Given the description of an element on the screen output the (x, y) to click on. 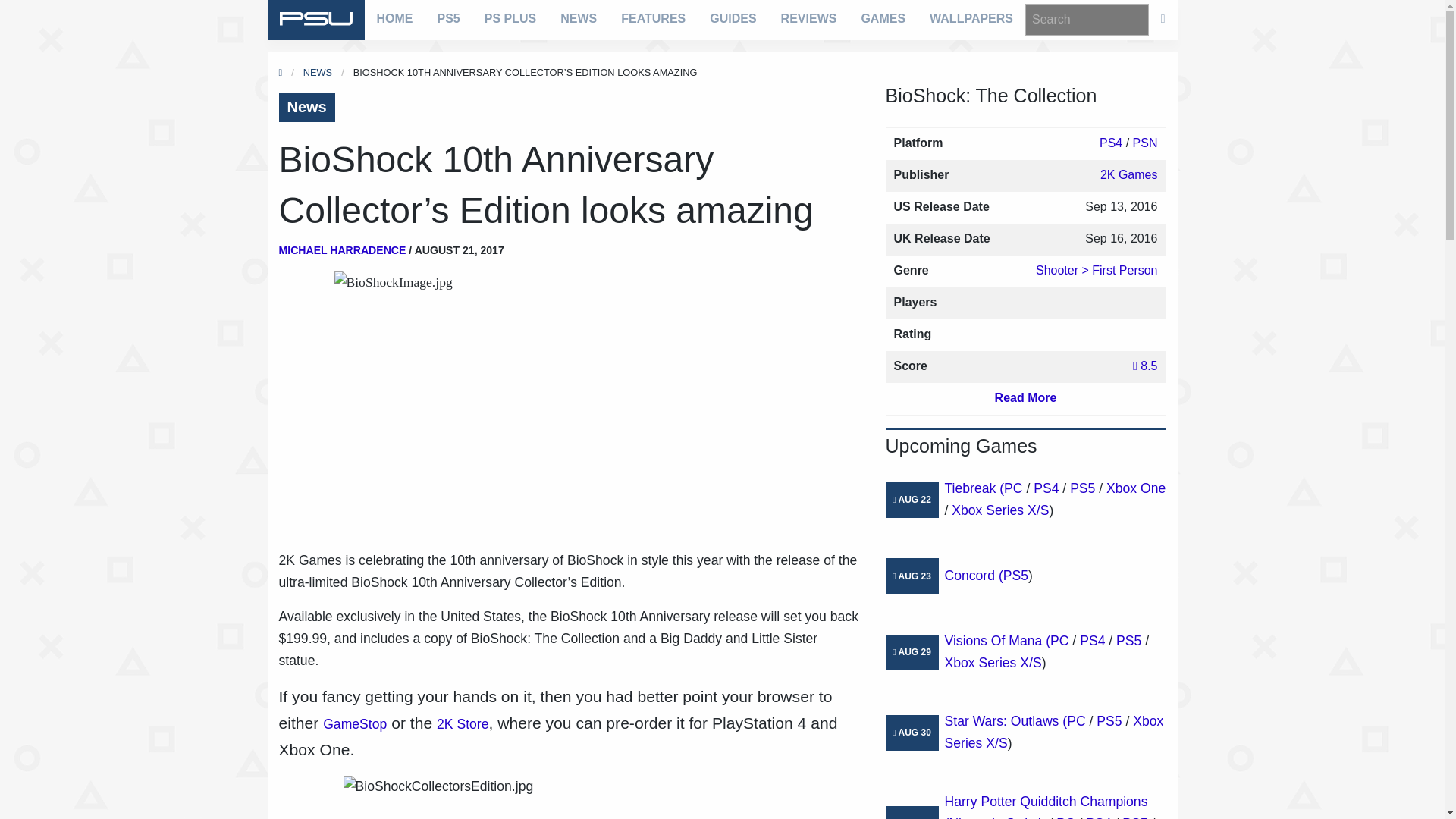
PS PLUS (509, 18)
REVIEWS (808, 18)
NEWS (578, 18)
WALLPAPERS (971, 18)
GAMES (882, 18)
HOME (394, 18)
PS5 (448, 18)
GUIDES (732, 18)
News (306, 107)
MICHAEL HARRADENCE (342, 250)
